Given the description of an element on the screen output the (x, y) to click on. 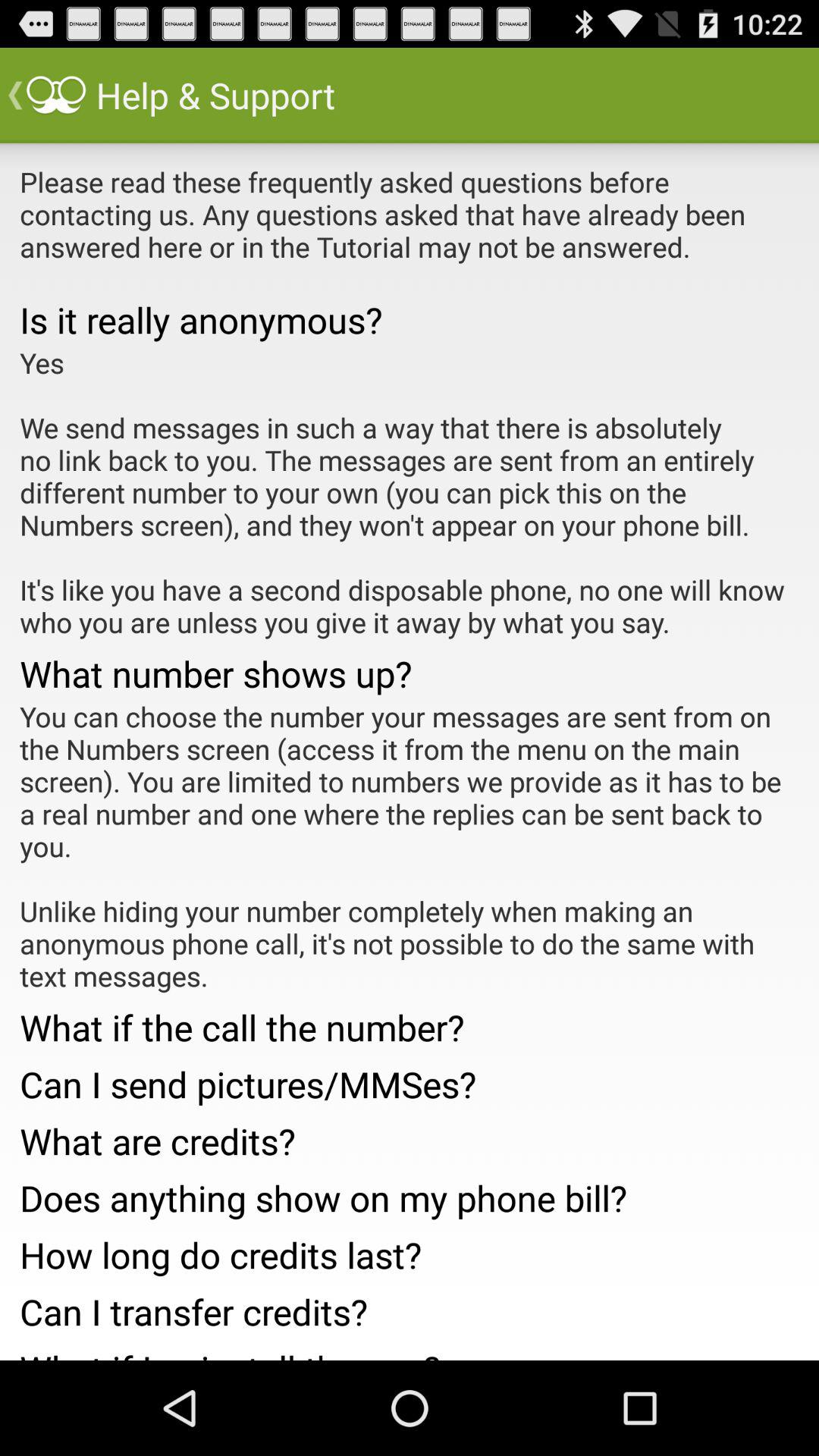
flip until how long do item (409, 1250)
